Given the description of an element on the screen output the (x, y) to click on. 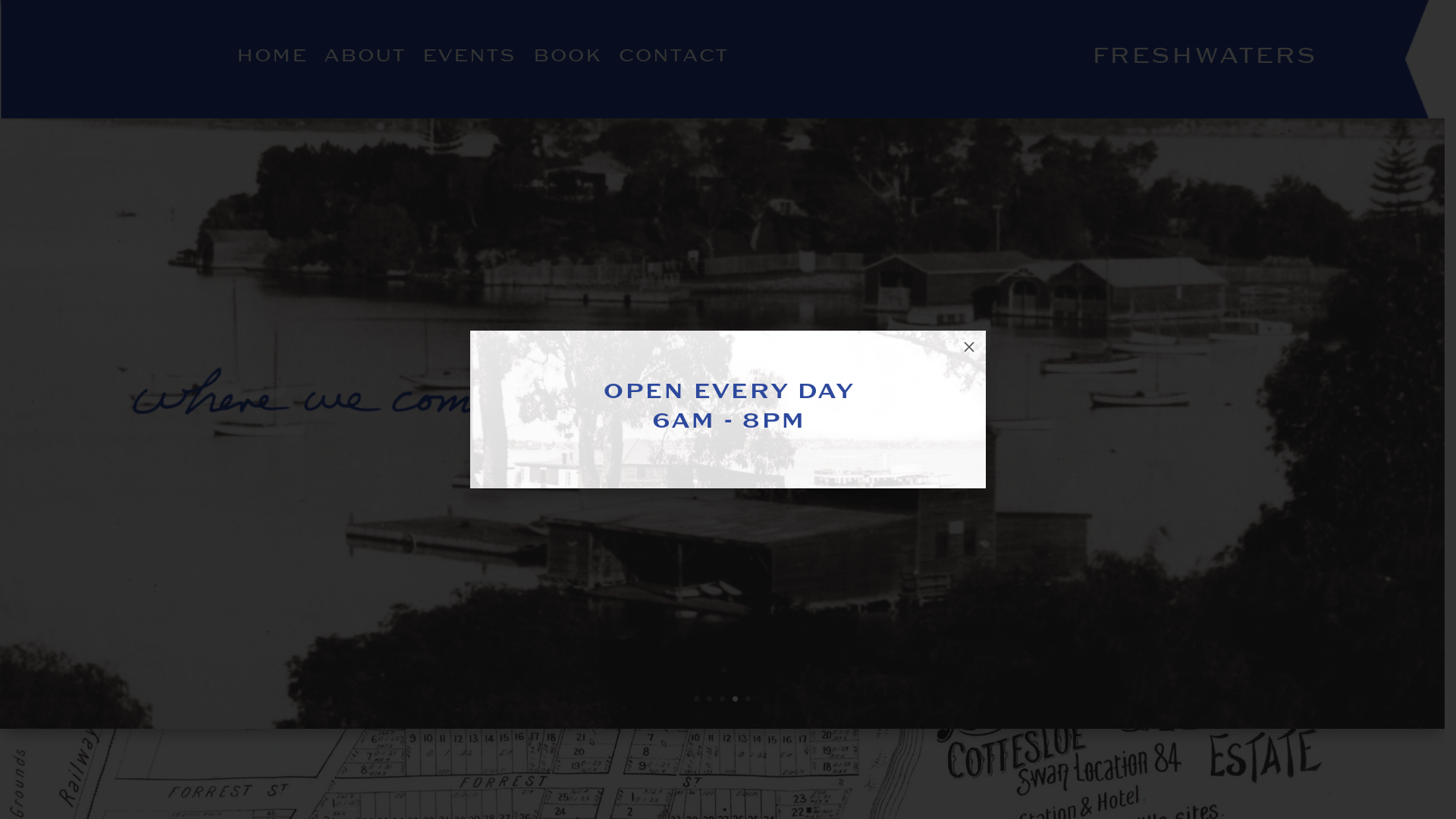
ABOUT Element type: text (363, 58)
CONTACT Element type: text (672, 58)
M Element type: text (968, 347)
1 Element type: text (696, 698)
5 Element type: text (747, 698)
4 Element type: text (734, 698)
BOOK Element type: text (566, 58)
EVENTS Element type: text (468, 58)
HOME Element type: text (270, 58)
3 Element type: text (721, 698)
2 Element type: text (709, 698)
